Given the description of an element on the screen output the (x, y) to click on. 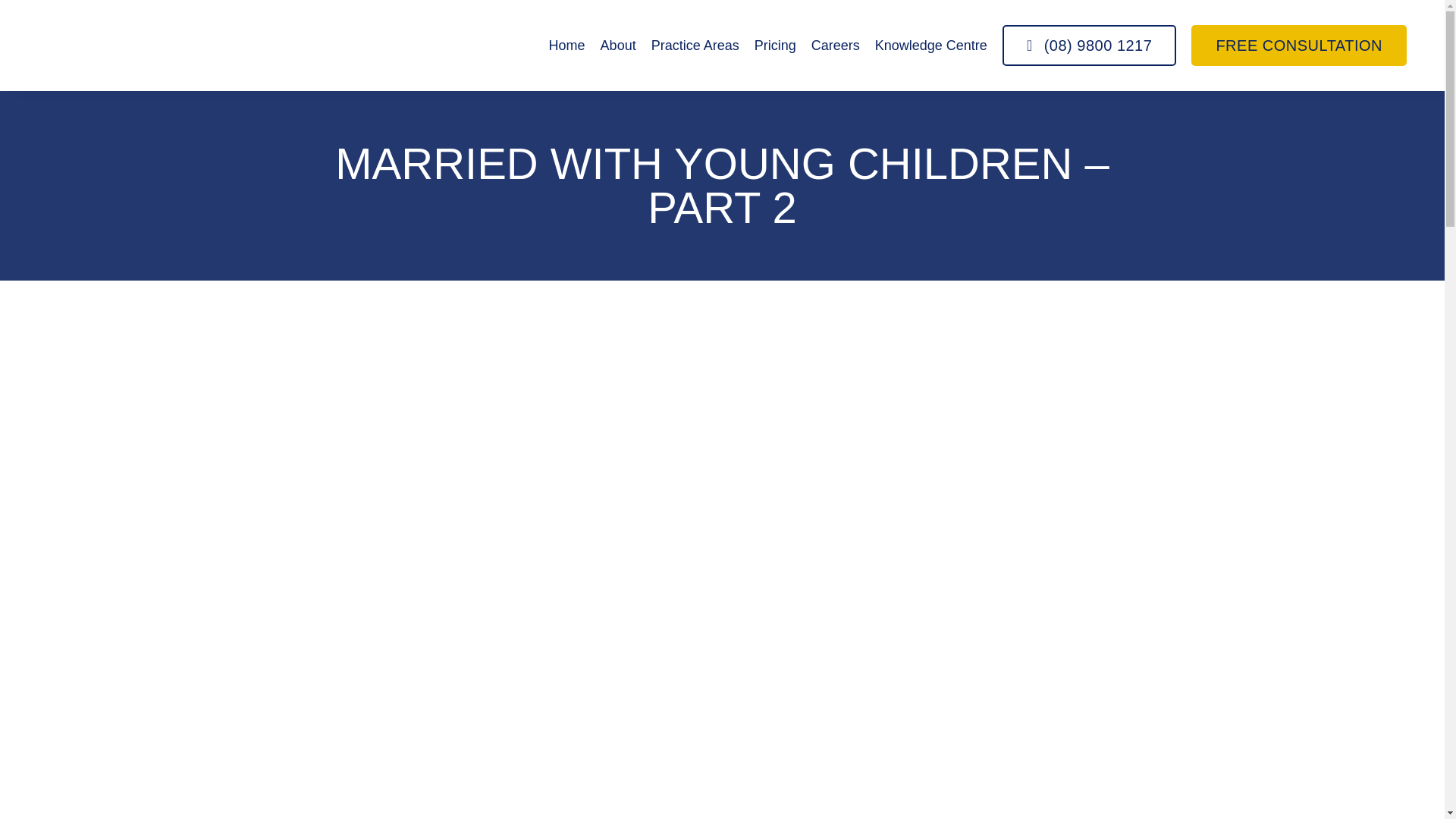
FREE CONSULTATION (1298, 45)
Practice Areas (694, 45)
Home (566, 45)
Pricing (775, 45)
Careers (835, 45)
Knowledge Centre (931, 45)
